Given the description of an element on the screen output the (x, y) to click on. 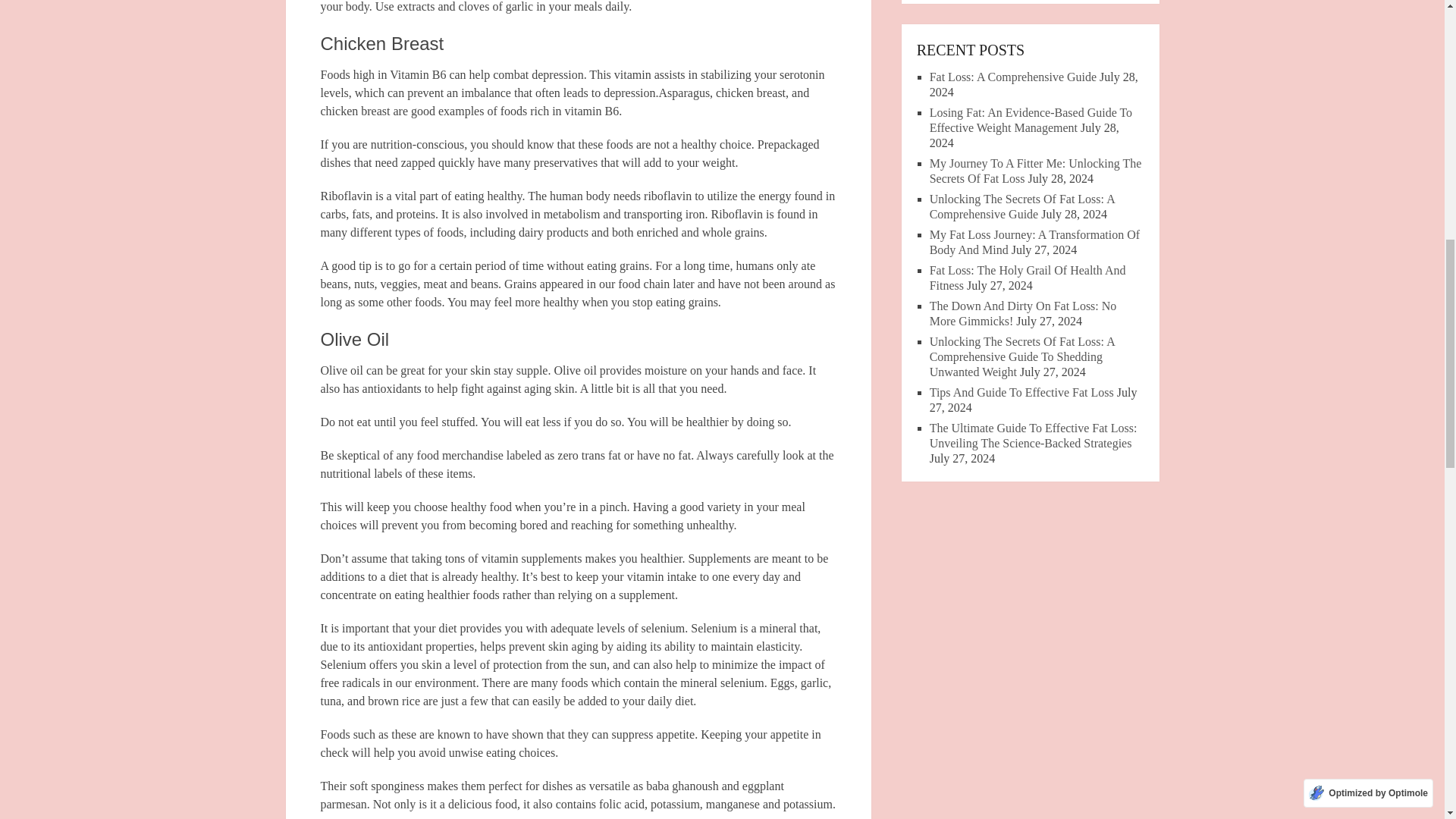
Tips And Guide To Effective Fat Loss (1021, 391)
The Down And Dirty On Fat Loss: No More Gimmicks! (1023, 313)
My Fat Loss Journey: A Transformation Of Body And Mind (1035, 242)
Unlocking The Secrets Of Fat Loss: A Comprehensive Guide (1022, 206)
Fat Loss: The Holy Grail Of Health And Fitness (1027, 277)
Fat Loss: A Comprehensive Guide (1013, 76)
My Journey To A Fitter Me: Unlocking The Secrets Of Fat Loss (1035, 171)
